Given the description of an element on the screen output the (x, y) to click on. 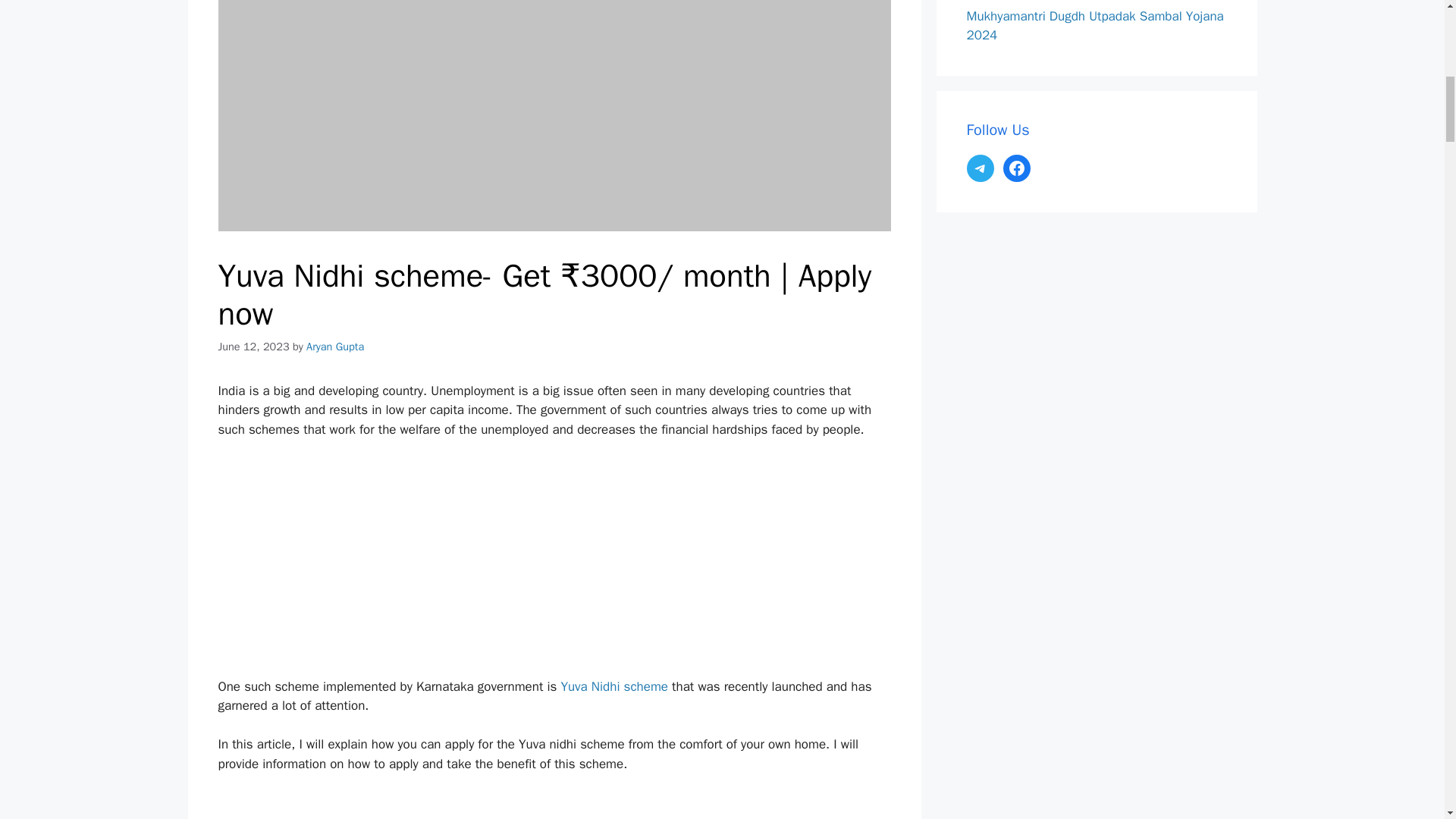
Aryan Gupta (334, 345)
View all posts by Aryan Gupta (334, 345)
Yuva Nidhi scheme (614, 686)
